Given the description of an element on the screen output the (x, y) to click on. 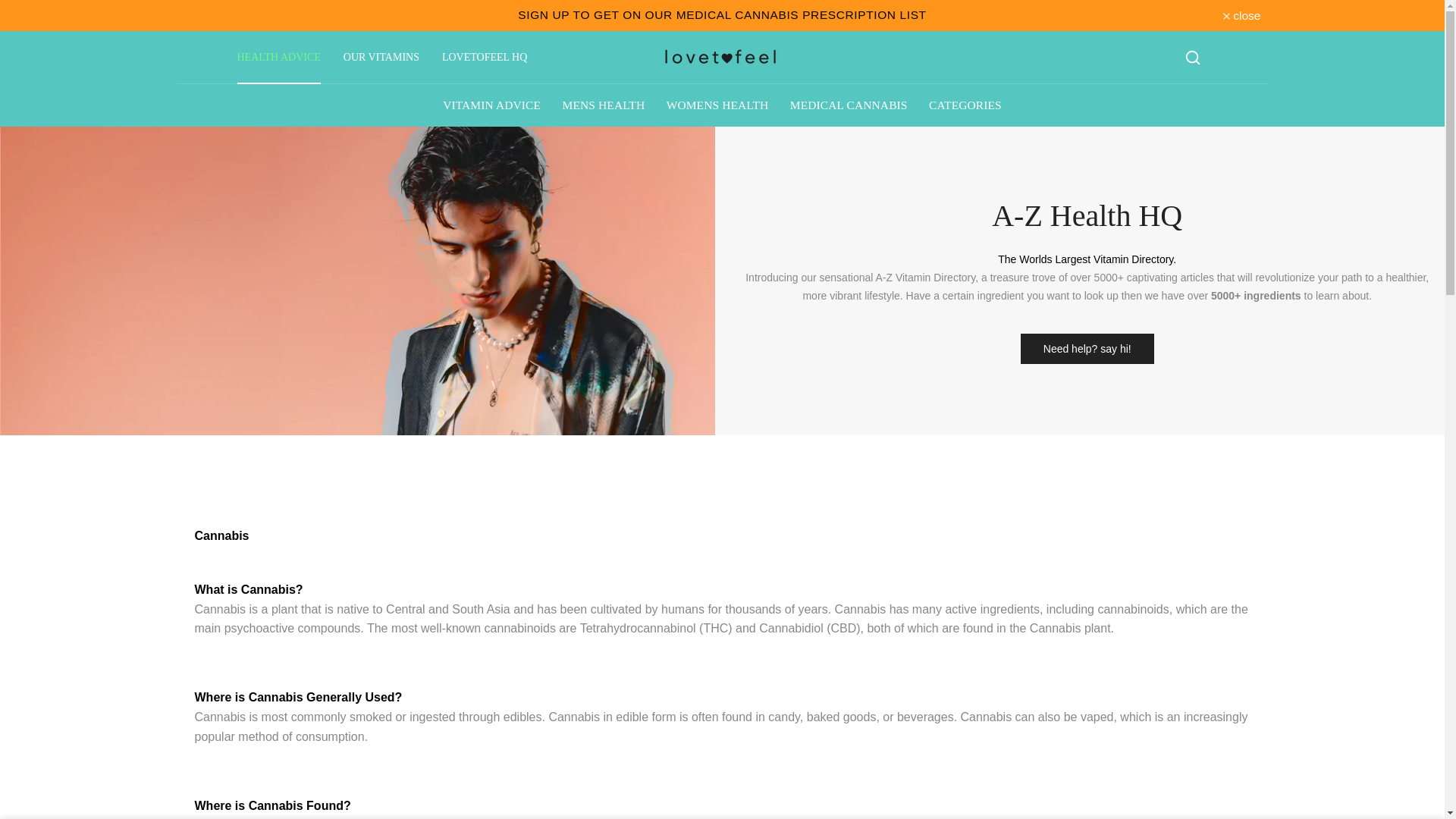
MEDICAL CANNABIS (848, 105)
MENS HEALTH (603, 105)
SIGN UP TO GET ON OUR MEDICAL CANNABIS PRESCRIPTION LIST (722, 14)
LOVETOFEEL HQ (484, 57)
HEALTH ADVICE (278, 57)
CATEGORIES (964, 105)
Need help? say hi! (1087, 348)
OUR VITAMINS (380, 57)
close (1241, 15)
VITAMIN ADVICE (491, 105)
WOMENS HEALTH (716, 105)
SUBSCRIBE (722, 14)
Skip to content (10, 7)
